Given the description of an element on the screen output the (x, y) to click on. 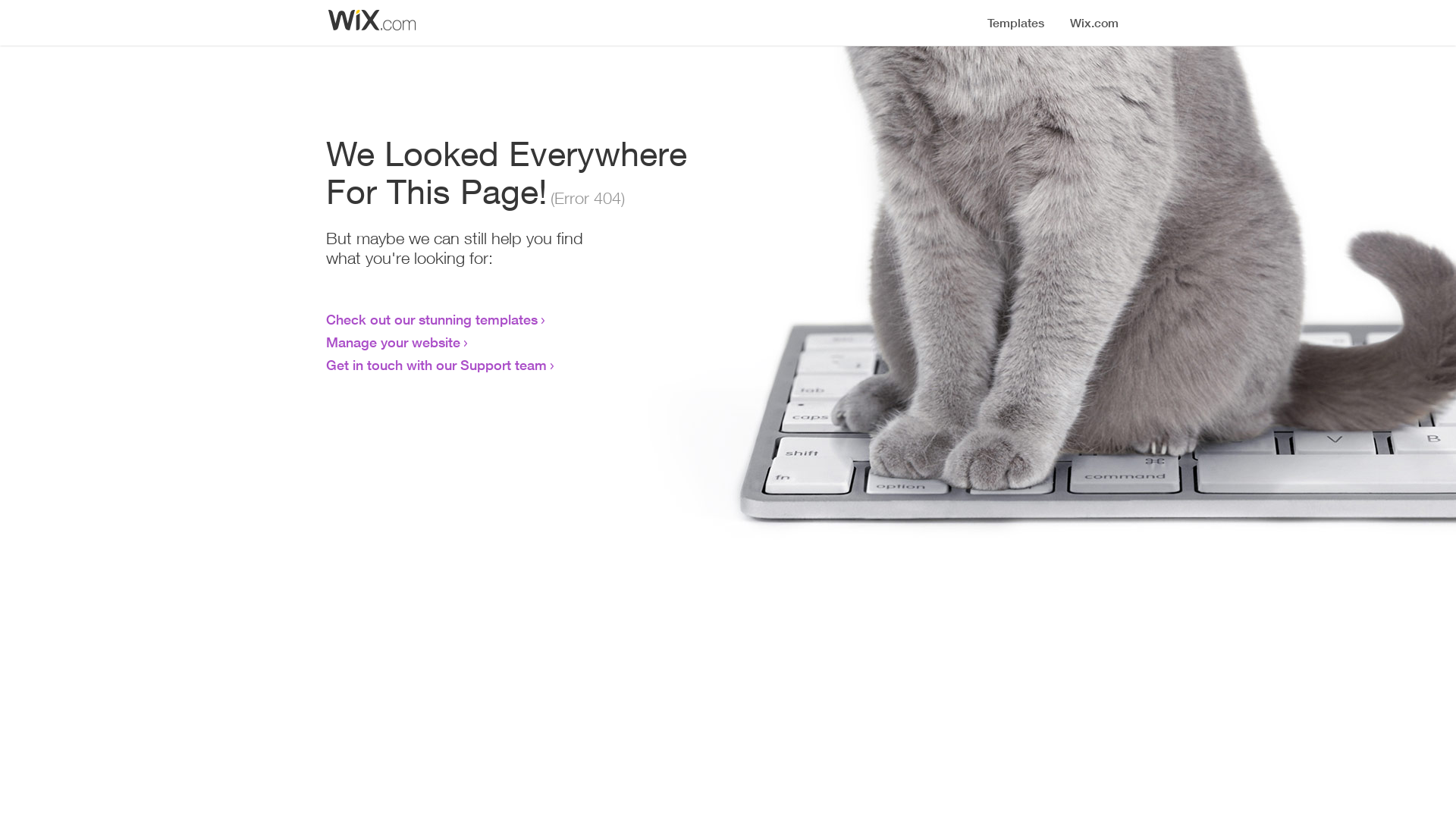
Check out our stunning templates Element type: text (431, 318)
Get in touch with our Support team Element type: text (436, 364)
Manage your website Element type: text (393, 341)
